Given the description of an element on the screen output the (x, y) to click on. 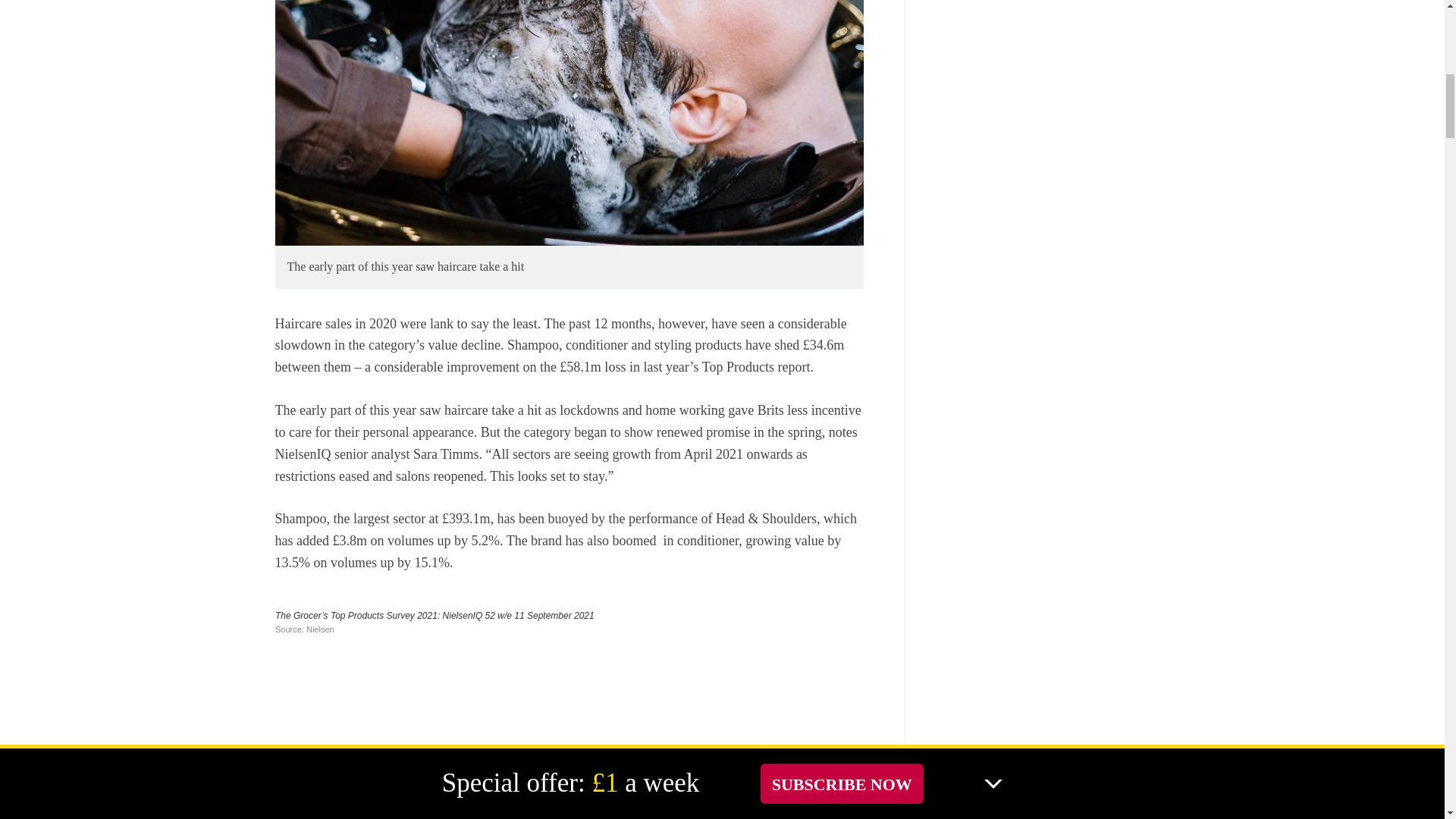
Top 5 Shampoo (569, 707)
